Given the description of an element on the screen output the (x, y) to click on. 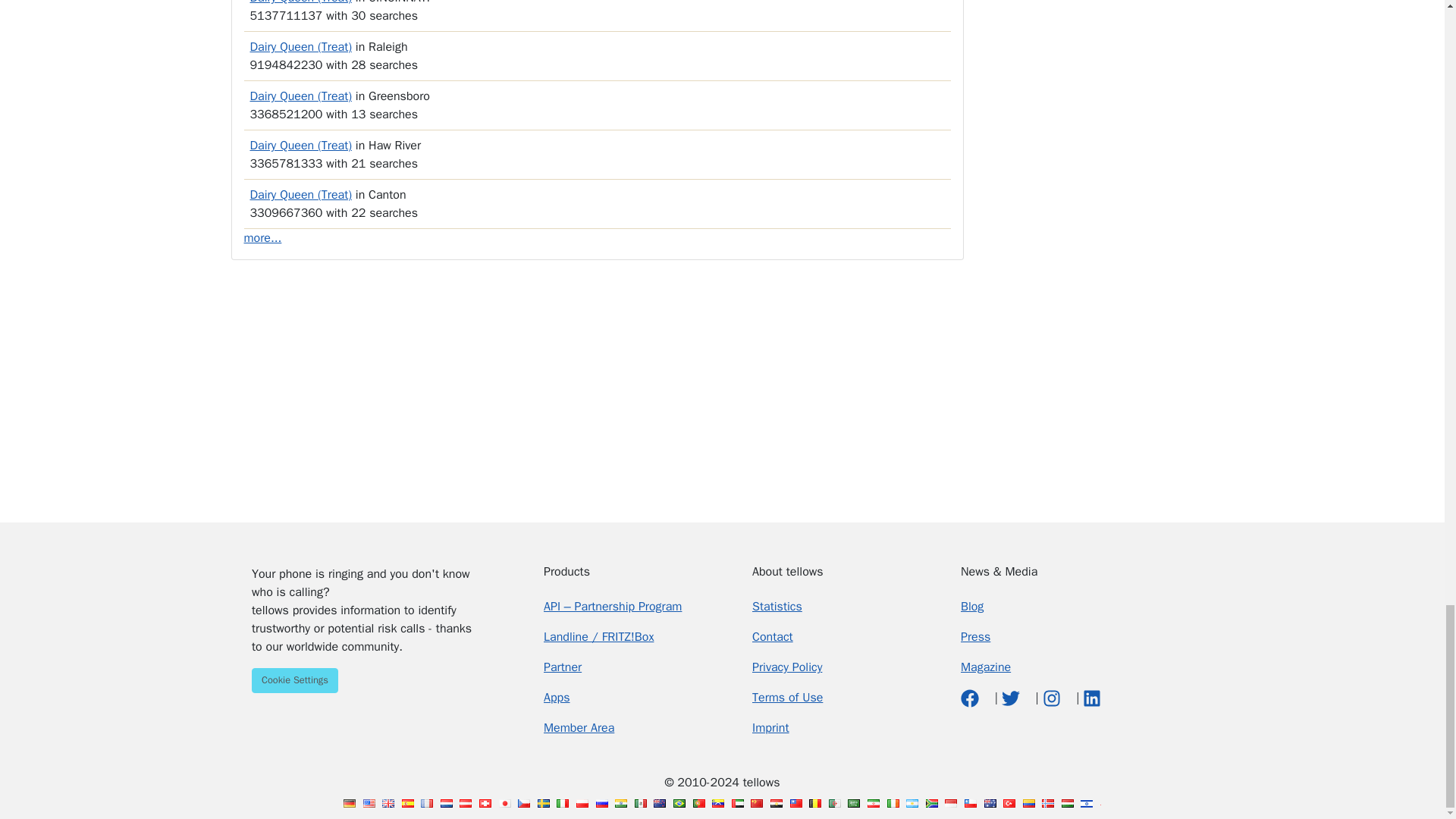
tellows Great Britain (387, 803)
Instagram (1053, 697)
Magazin (985, 667)
tellows Germany (349, 803)
tellows Austria (465, 803)
twitter (1012, 697)
tellows USA (368, 803)
LinkedIn (1091, 697)
Blog (972, 606)
Facebook (971, 697)
tellows Netherlands (446, 803)
tellows Spain (407, 803)
tellows France (426, 803)
Presse (975, 636)
